Given the description of an element on the screen output the (x, y) to click on. 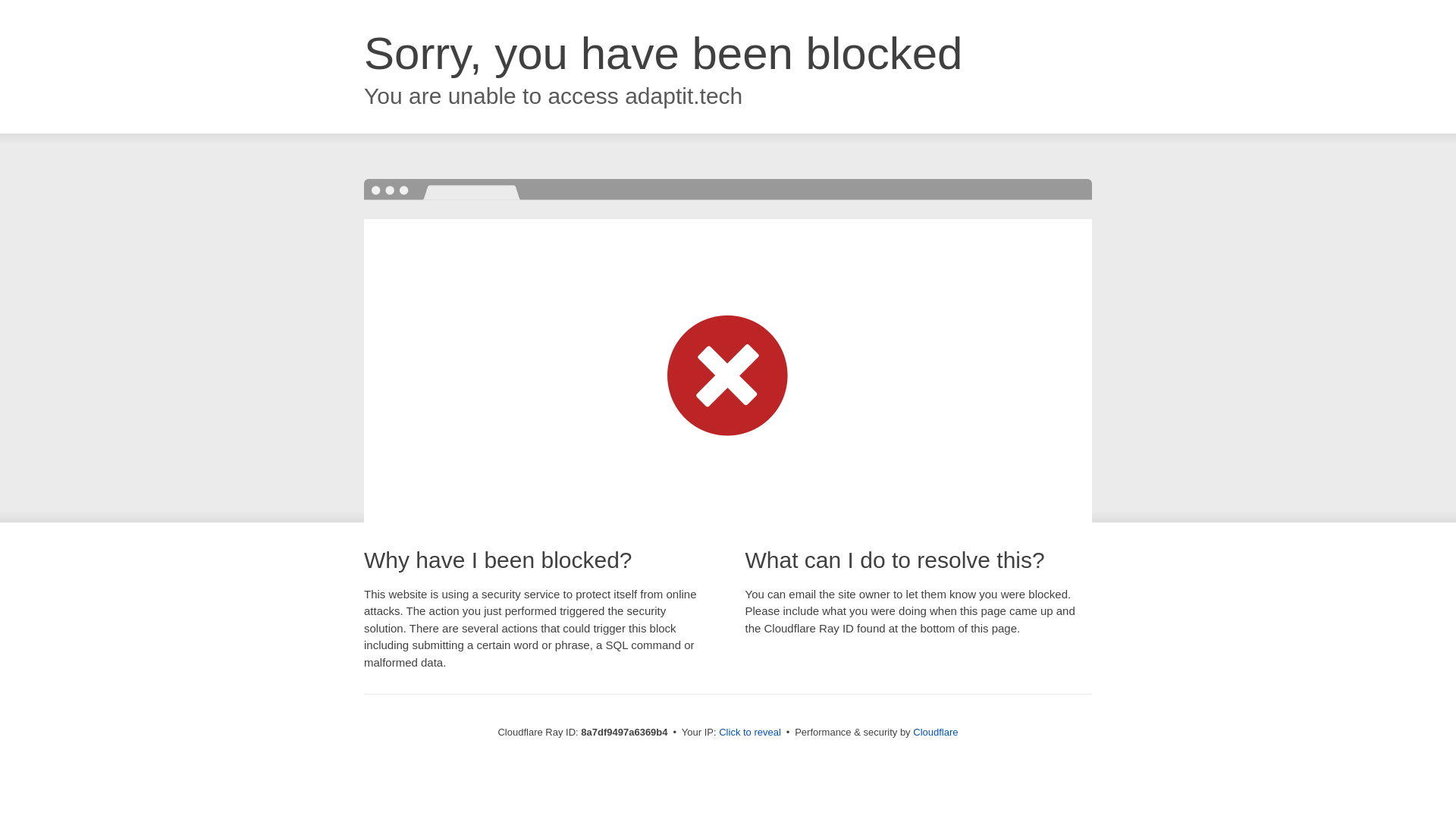
Click to reveal (749, 732)
Cloudflare (935, 731)
